Given the description of an element on the screen output the (x, y) to click on. 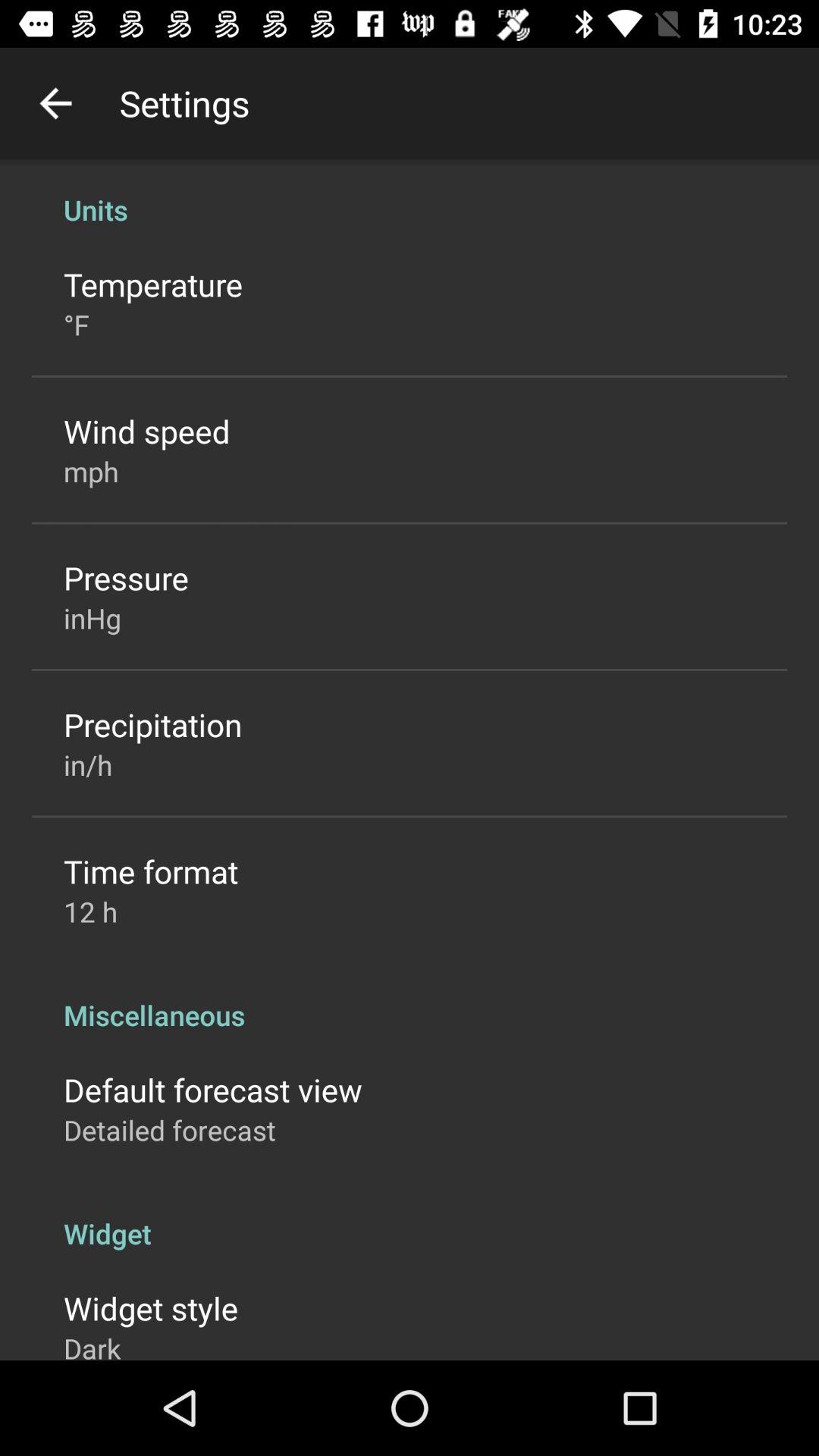
flip until precipitation (152, 724)
